Given the description of an element on the screen output the (x, y) to click on. 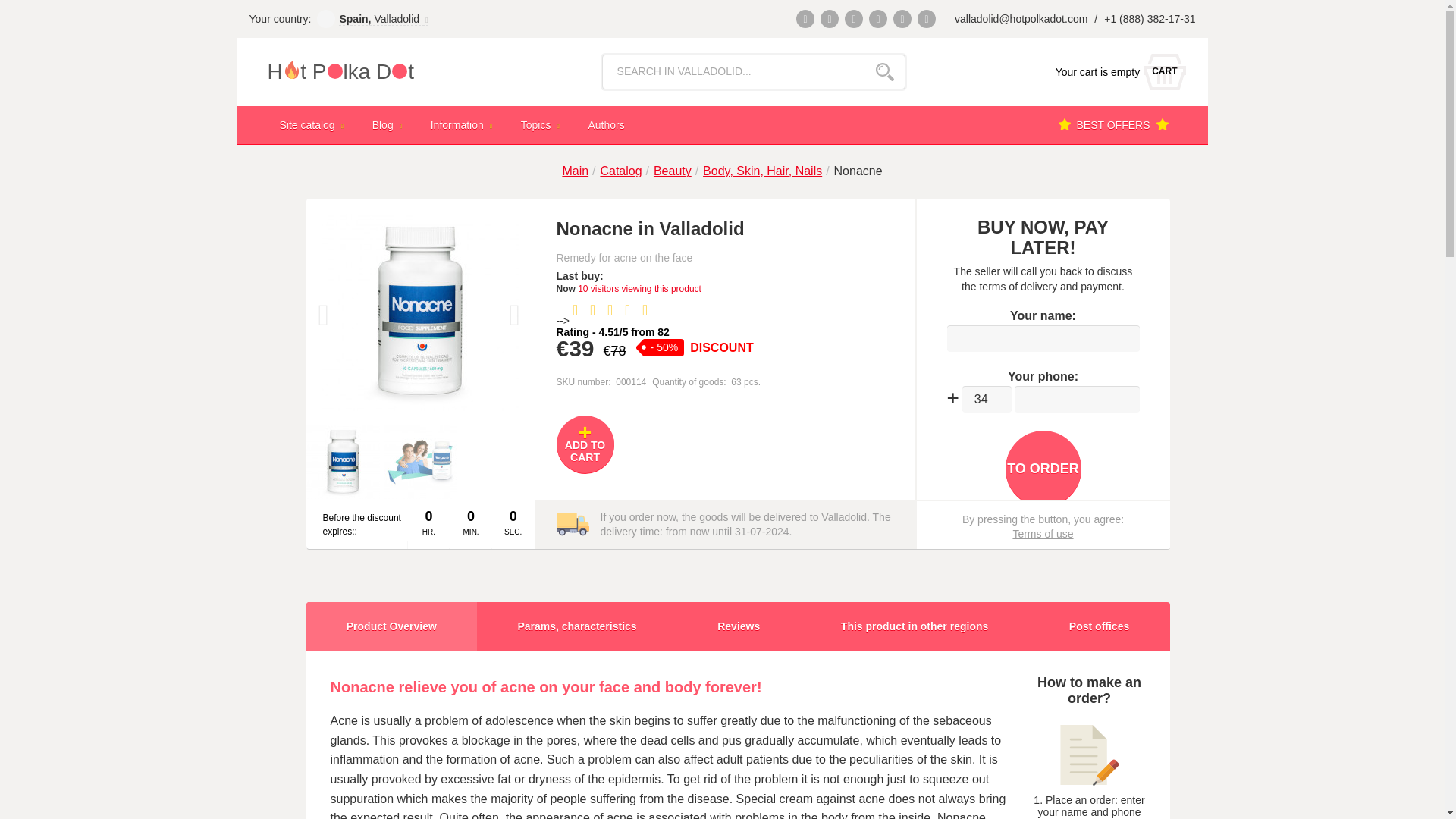
Site catalog (312, 124)
H t Plka Dt (372, 71)
34 (986, 399)
Blog (389, 124)
Spain, Valladolid (1116, 72)
To order (383, 18)
